Given the description of an element on the screen output the (x, y) to click on. 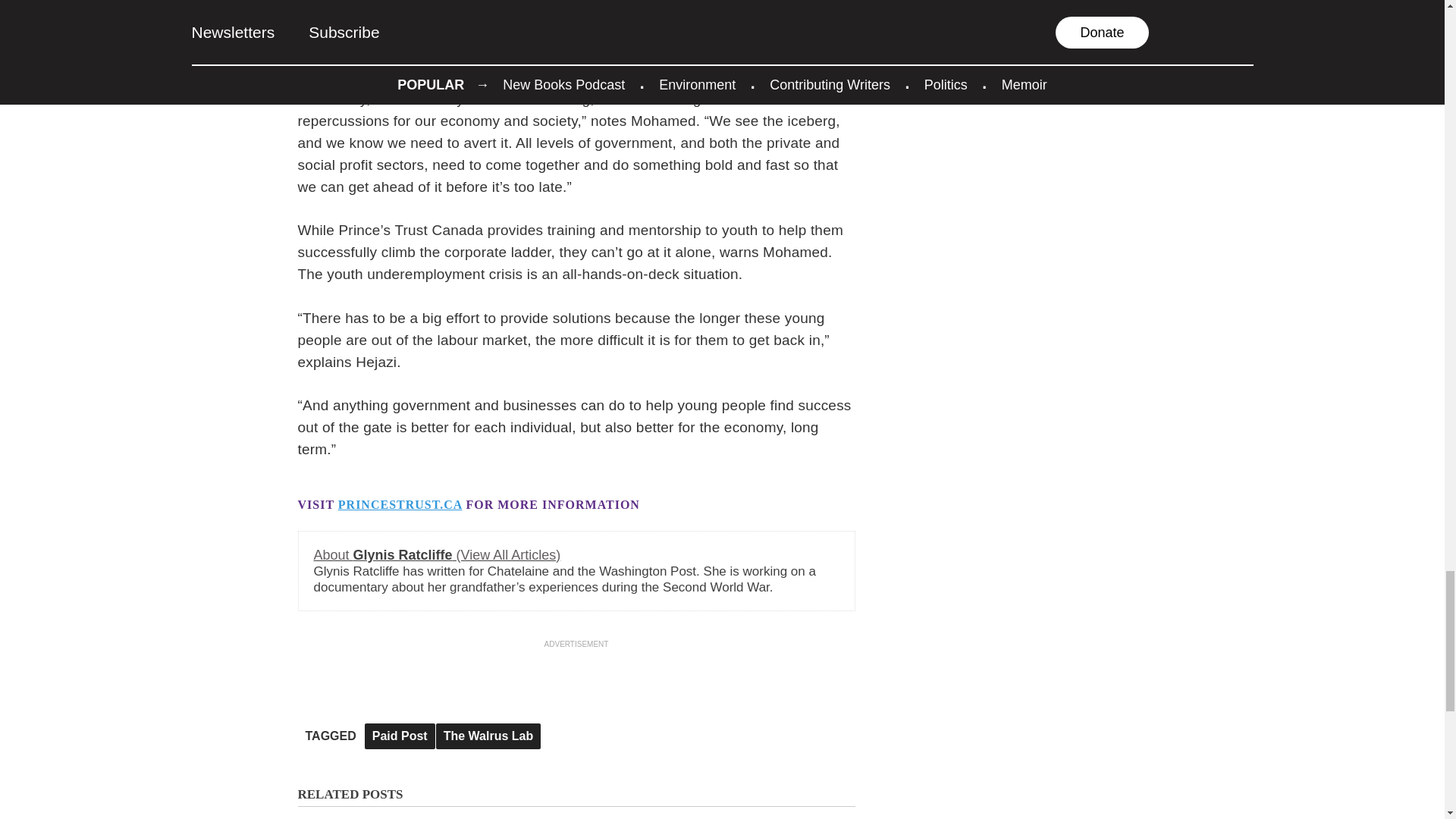
Glynis Ratcliffe (437, 554)
Princes Trust Canada (400, 504)
